Given the description of an element on the screen output the (x, y) to click on. 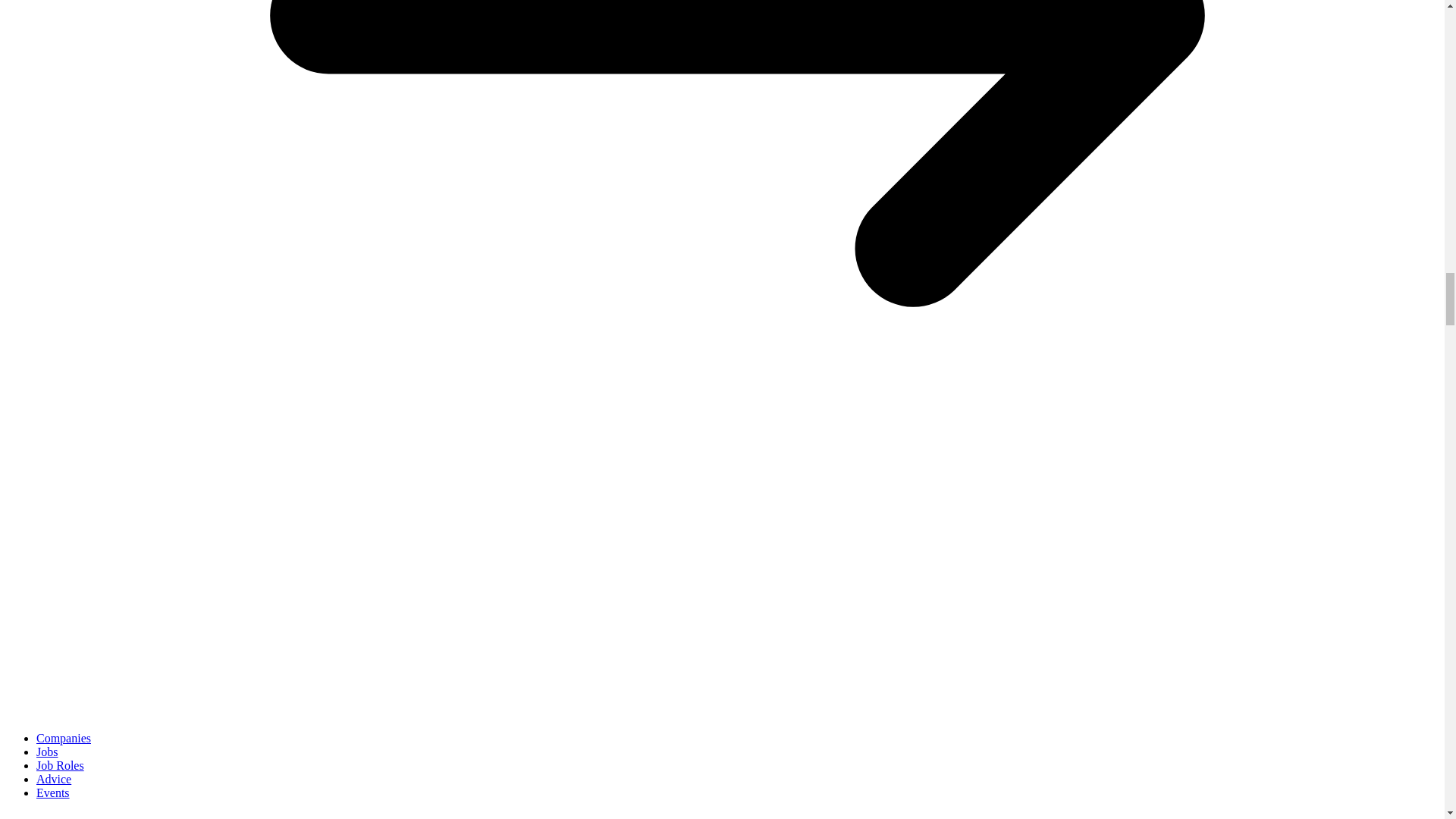
Jobs (47, 751)
Events (52, 792)
Advice (53, 779)
Job Roles (60, 765)
Companies (63, 738)
